Given the description of an element on the screen output the (x, y) to click on. 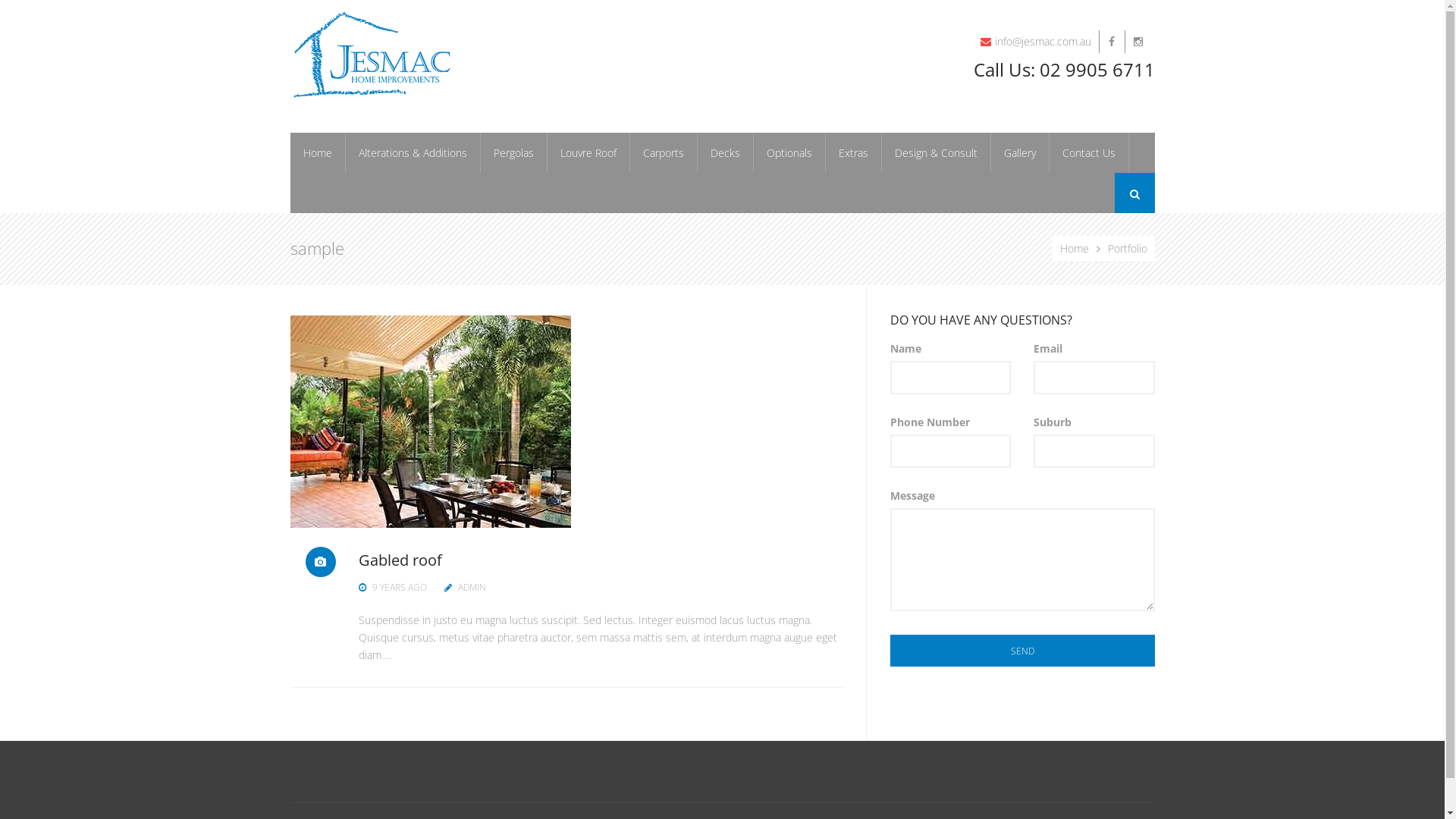
Louvre Roof Element type: text (588, 152)
Jesmac Home Improvements Element type: hover (371, 53)
Decks Element type: text (725, 152)
Gabled roof Element type: text (399, 559)
Contact Us Element type: text (1089, 152)
Extras Element type: text (853, 152)
Home Element type: text (1083, 248)
follow us on instagram Element type: text (1136, 74)
Design & Consult Element type: text (935, 152)
02 9905 6711 Element type: text (1096, 68)
Alterations & Additions Element type: text (412, 152)
info@jesmac.com.au Element type: text (1035, 40)
Gallery Element type: text (1019, 152)
Optionals Element type: text (789, 152)
follow on facebook Element type: text (1111, 66)
Home Element type: text (317, 152)
Pergolas Element type: text (513, 152)
Carports Element type: text (662, 152)
Send Element type: text (1022, 650)
